Given the description of an element on the screen output the (x, y) to click on. 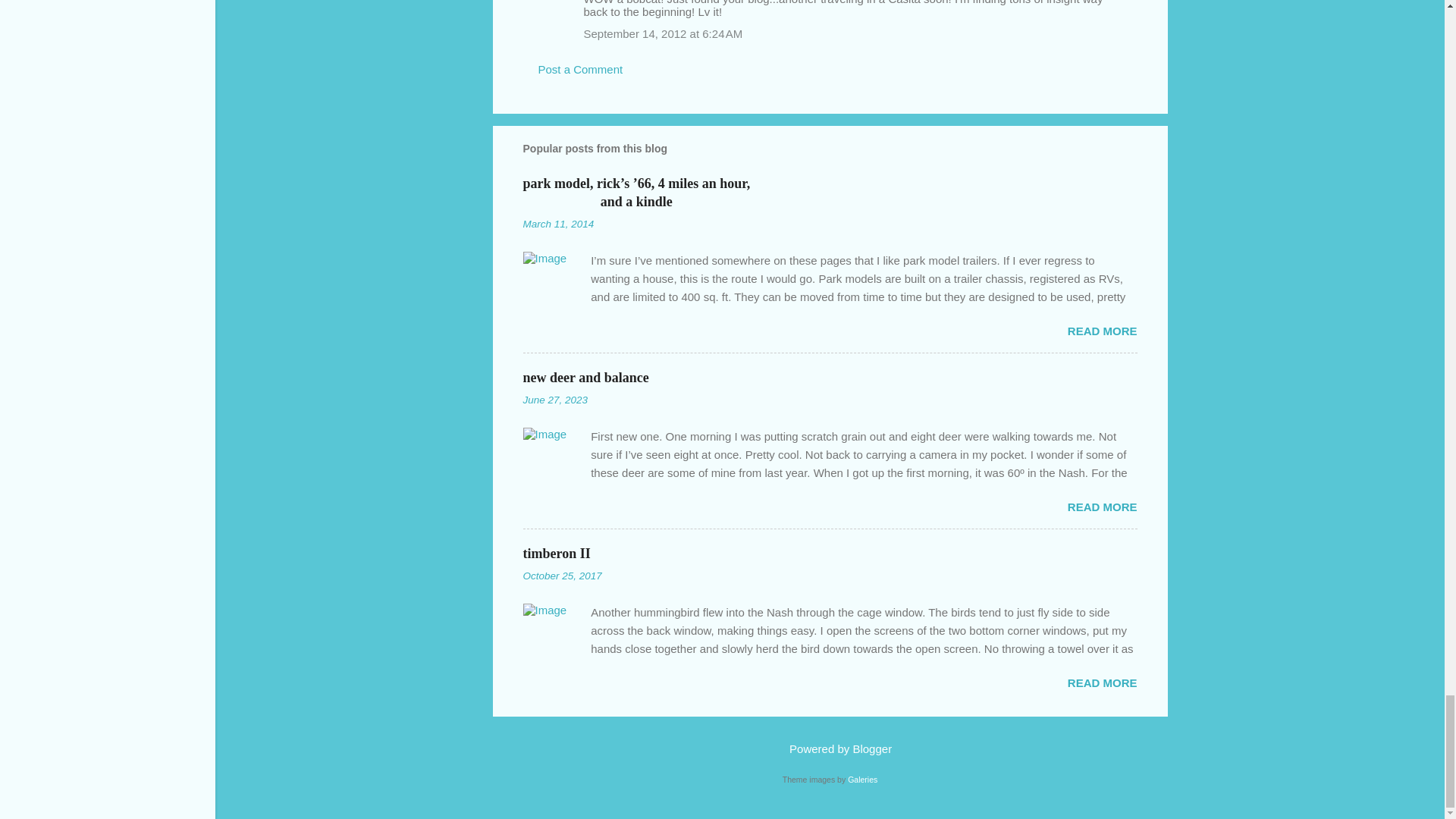
Post a Comment (580, 69)
March 11, 2014 (558, 224)
